Given the description of an element on the screen output the (x, y) to click on. 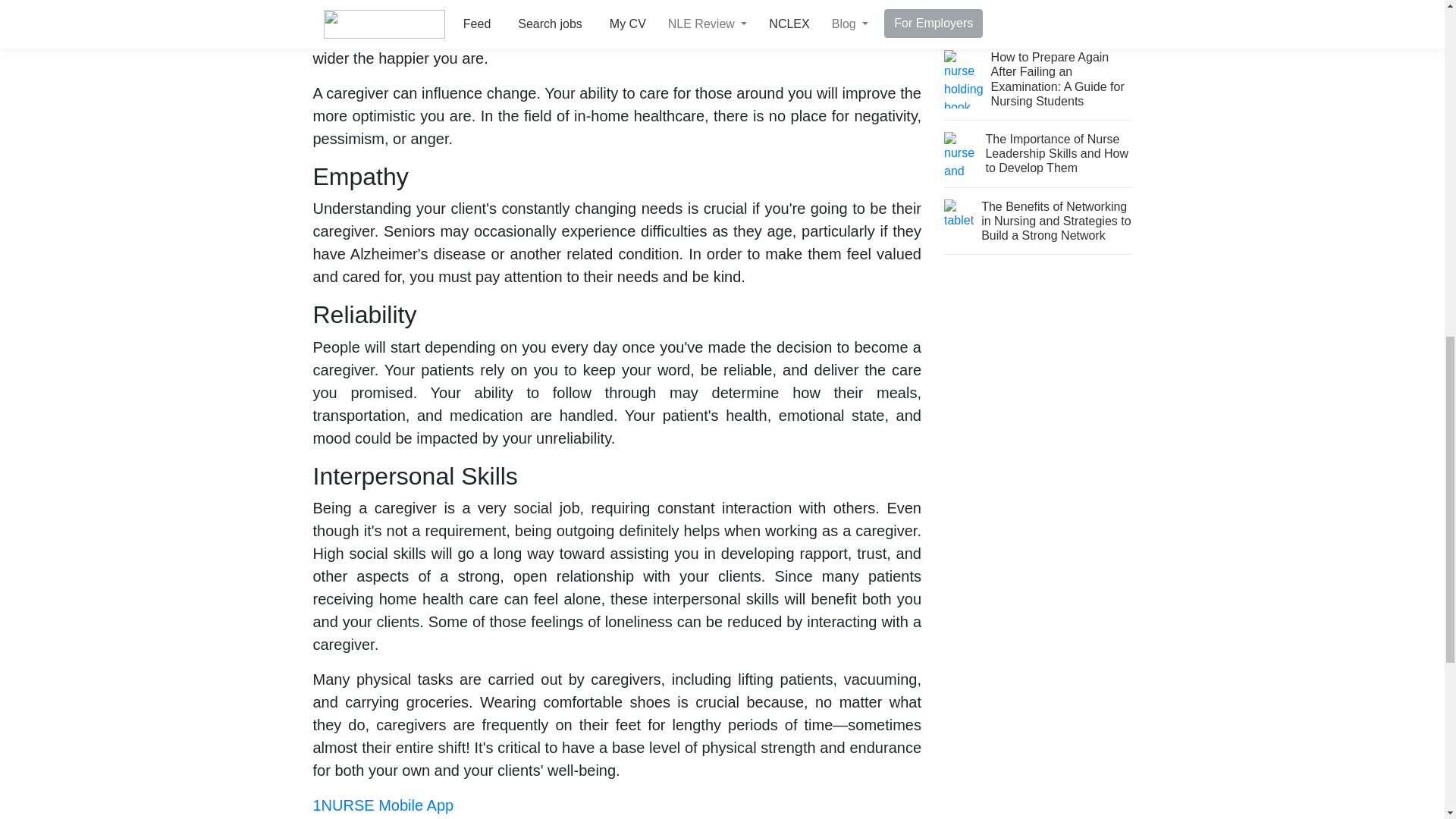
1NURSE Mobile App (382, 805)
